Given the description of an element on the screen output the (x, y) to click on. 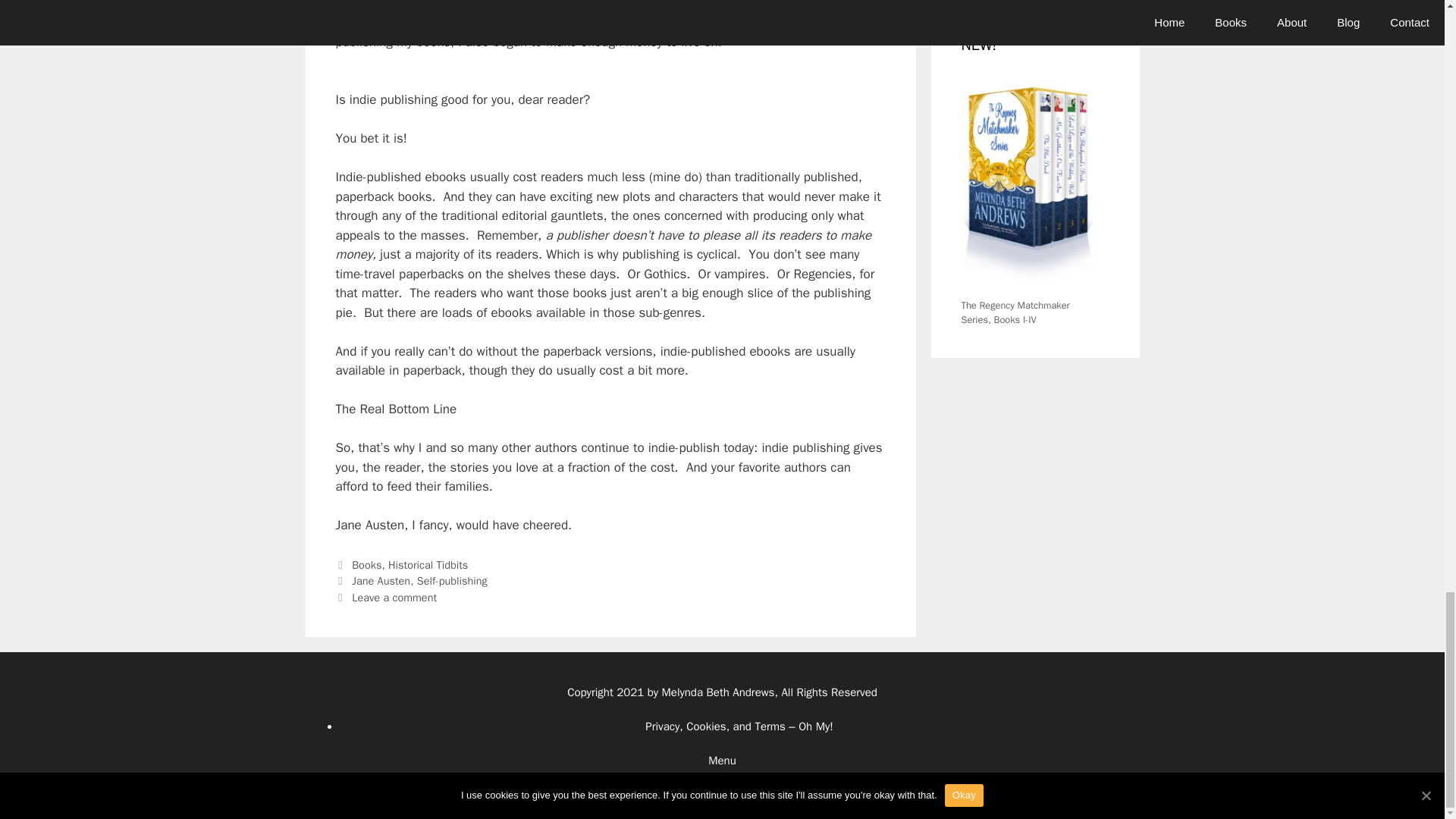
Self-publishing (451, 581)
Leave a comment (394, 597)
Historical Tidbits (427, 564)
Jane Austen (381, 581)
Books (366, 564)
